Given the description of an element on the screen output the (x, y) to click on. 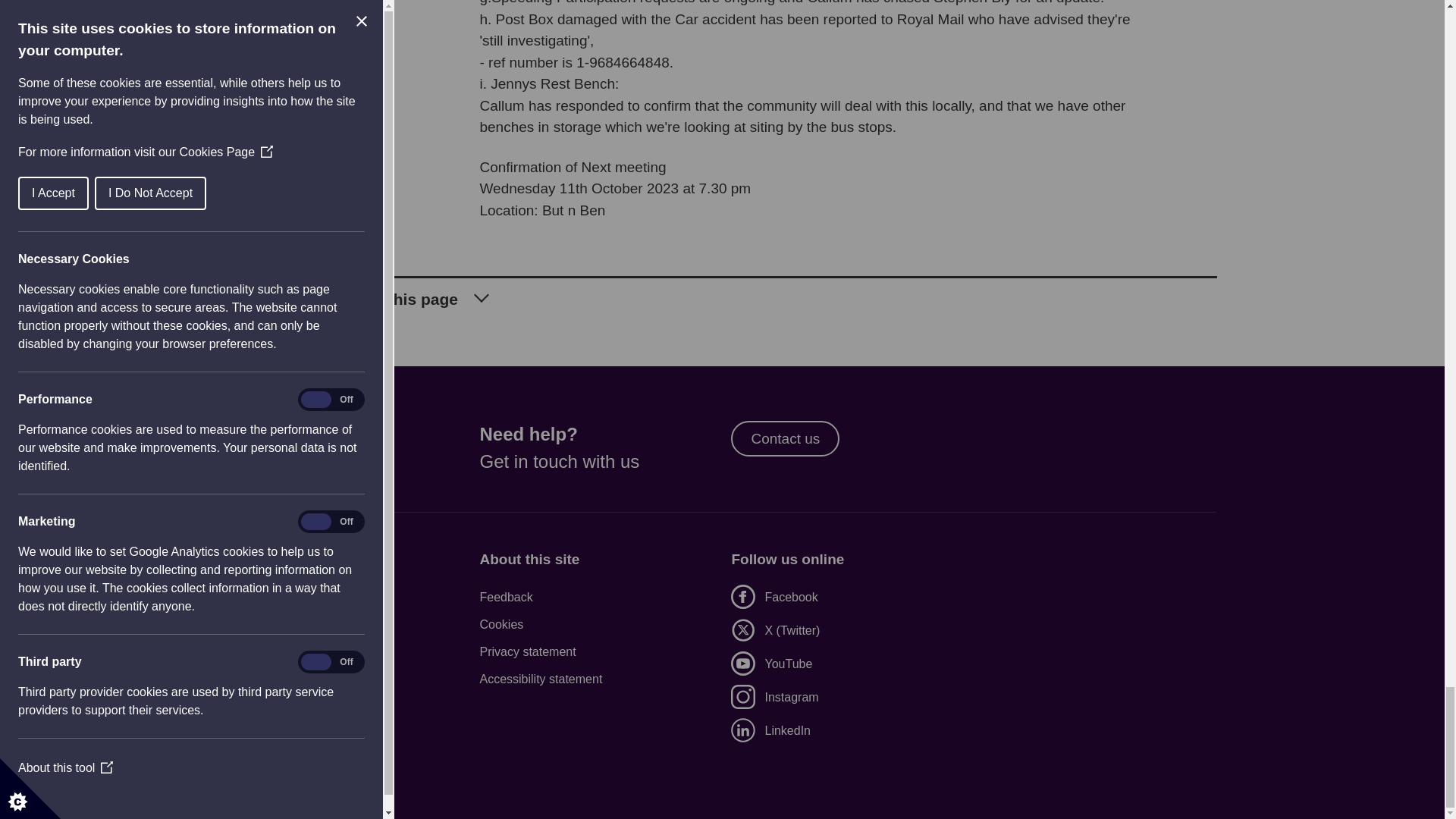
Give feedback about this page (721, 294)
